Given the description of an element on the screen output the (x, y) to click on. 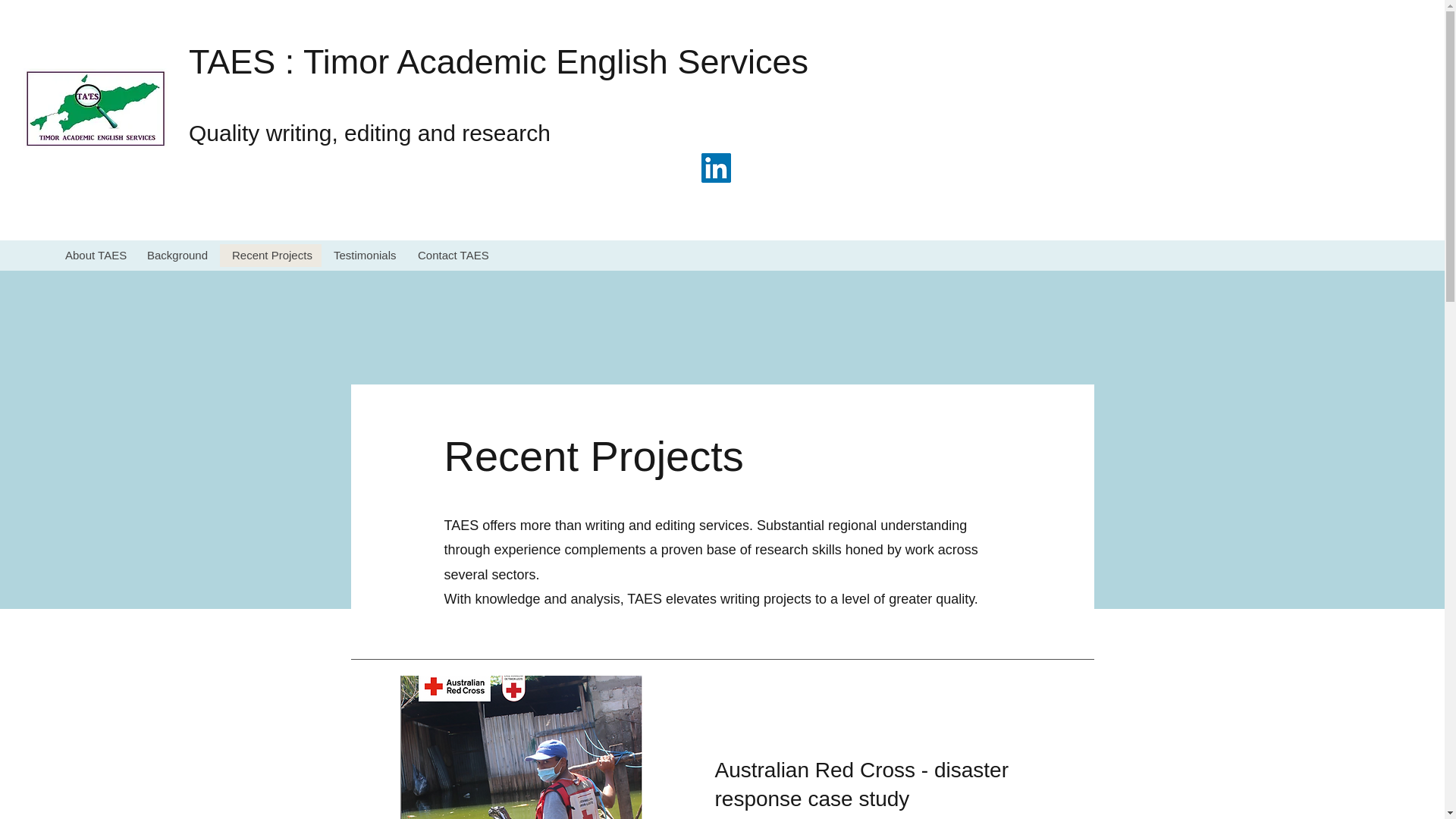
TAES : Timor Academic English Services (498, 61)
Background (177, 255)
Testimonials (363, 255)
Contact TAES (451, 255)
Recent Projects (270, 255)
About TAES (94, 255)
